Given the description of an element on the screen output the (x, y) to click on. 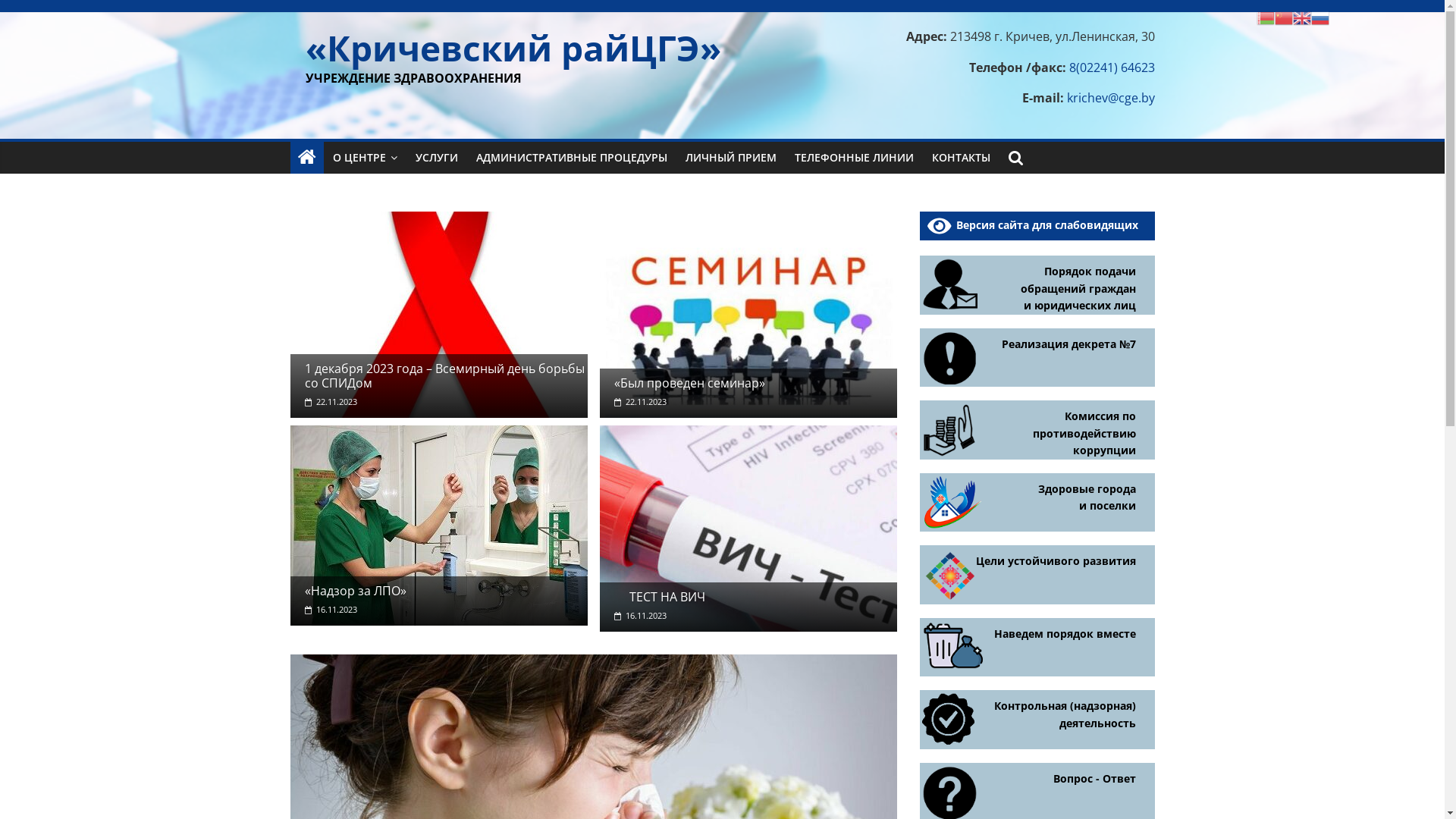
22.11.2023 Element type: text (330, 401)
8(02241) 64623 Element type: text (1111, 67)
Belarusian Element type: hover (1265, 16)
16.11.2023 Element type: text (640, 615)
Chinese (Simplified) Element type: hover (1283, 16)
22.11.2023 Element type: text (640, 401)
English Element type: hover (1301, 16)
krichev@cge.by Element type: text (1110, 97)
Russian Element type: hover (1320, 16)
16.11.2023 Element type: text (330, 609)
